Given the description of an element on the screen output the (x, y) to click on. 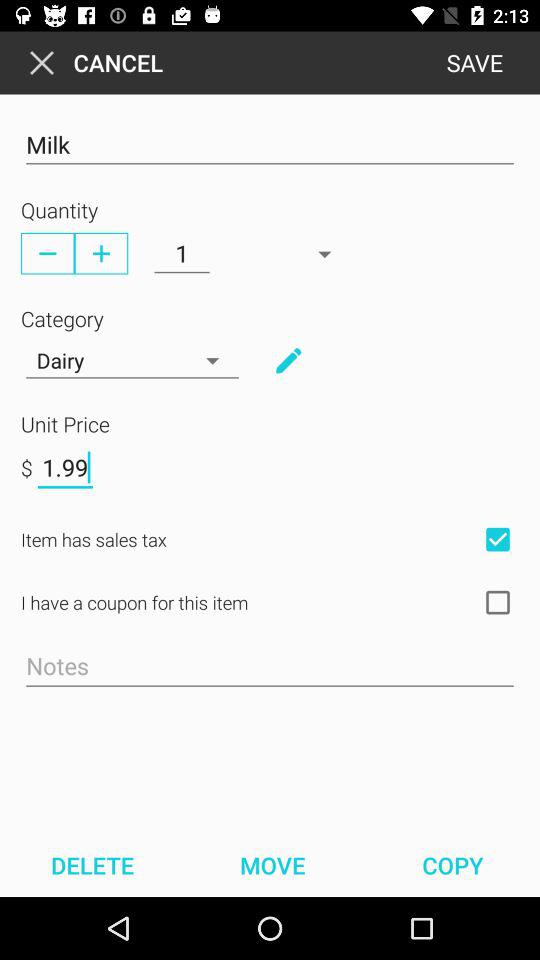
enter information (288, 360)
